Given the description of an element on the screen output the (x, y) to click on. 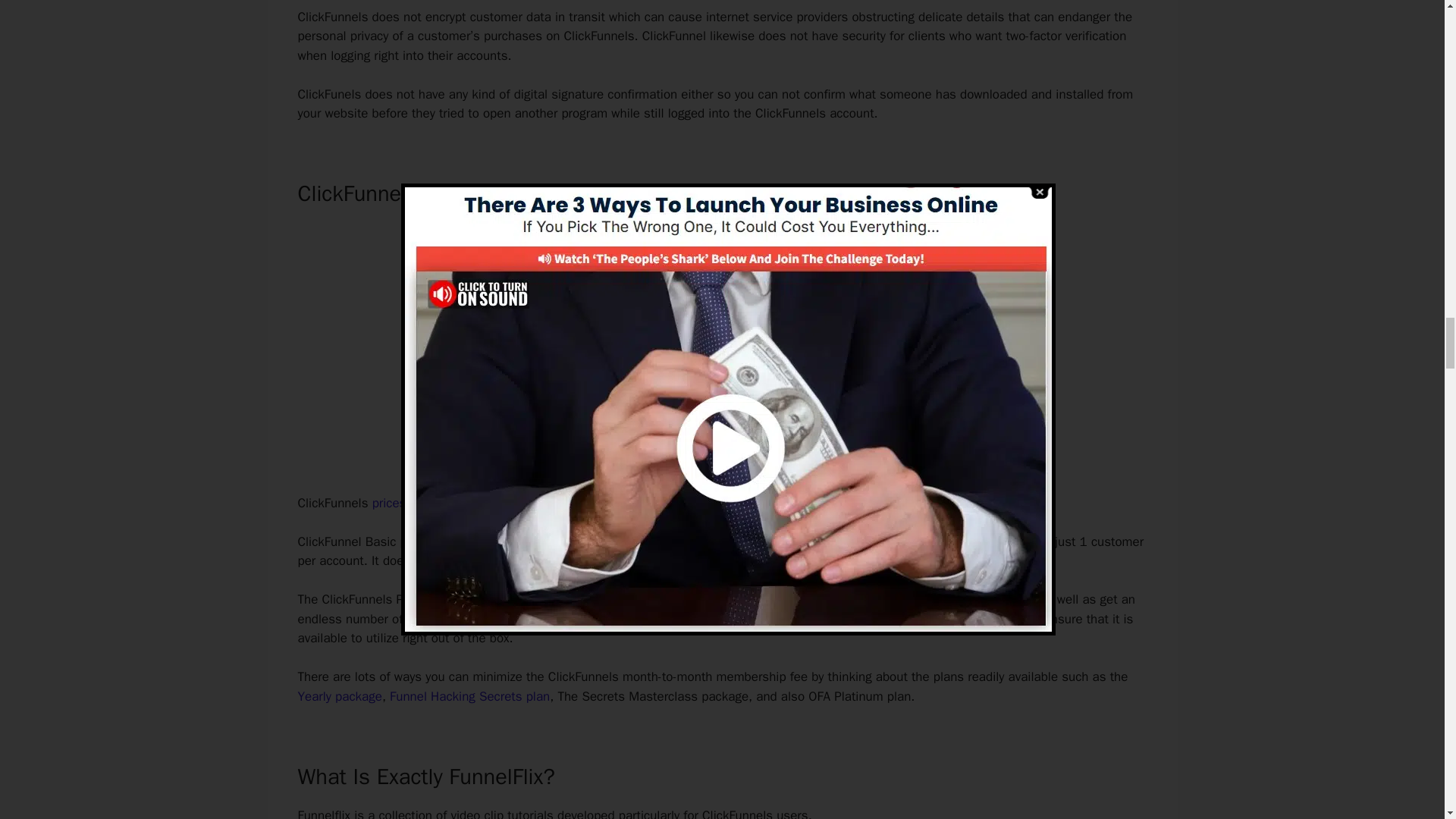
Yearly package (339, 696)
Funnel Hacking Secrets plan (470, 696)
Go Here To Find Out More (722, 450)
prices (389, 503)
